Given the description of an element on the screen output the (x, y) to click on. 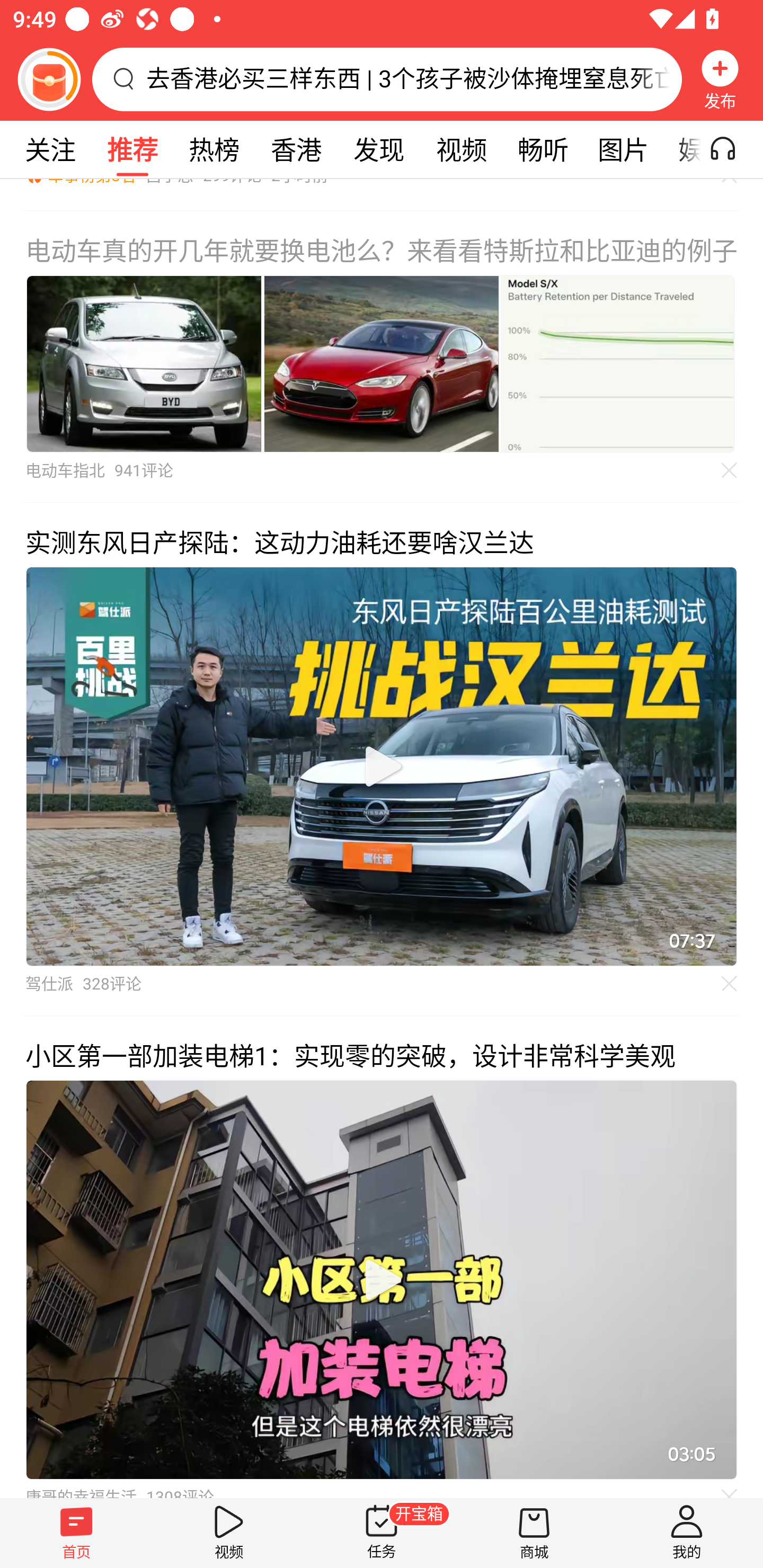
阅读赚金币 (48, 79)
发布 发布，按钮 (720, 78)
关注 (50, 149)
推荐 (132, 149)
热榜 (213, 149)
香港 (295, 149)
发现 (378, 149)
视频 (461, 149)
畅听 (542, 149)
图片 (623, 149)
听一听开关 (732, 149)
内容图片 (143, 363)
内容图片 (381, 363)
内容图片 (617, 363)
不感兴趣 (729, 470)
播放视频 视频播放器，双击屏幕打开播放控制 (381, 766)
播放视频 (381, 766)
不感兴趣 (729, 982)
播放视频 视频播放器，双击屏幕打开播放控制 (381, 1280)
播放视频 (381, 1279)
首页 (76, 1532)
视频 (228, 1532)
任务 开宝箱 (381, 1532)
商城 (533, 1532)
我的 (686, 1532)
